Given the description of an element on the screen output the (x, y) to click on. 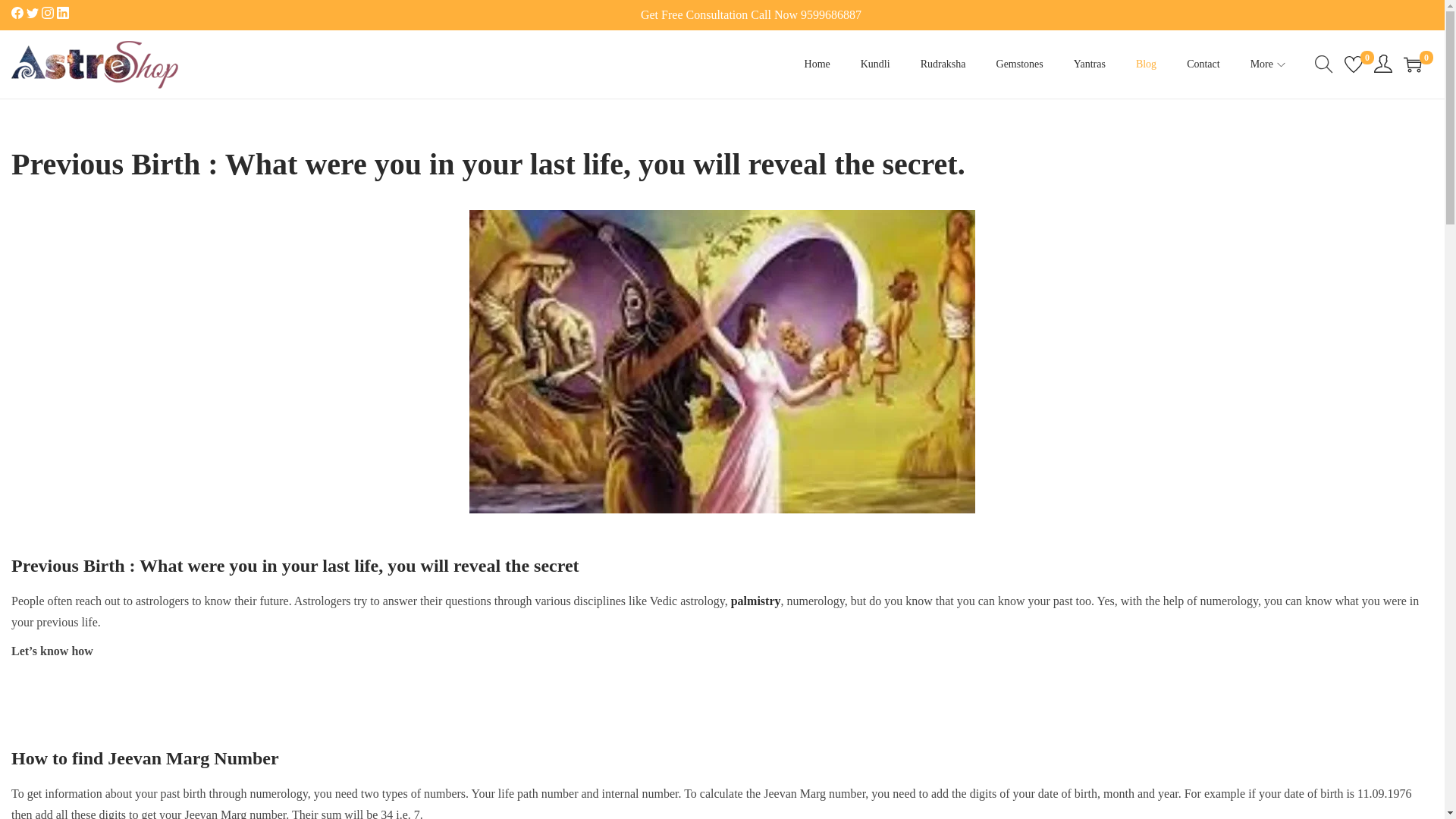
palmistry (755, 600)
0 (1412, 64)
Call Now 9599686887 (806, 14)
0 (1352, 64)
